Given the description of an element on the screen output the (x, y) to click on. 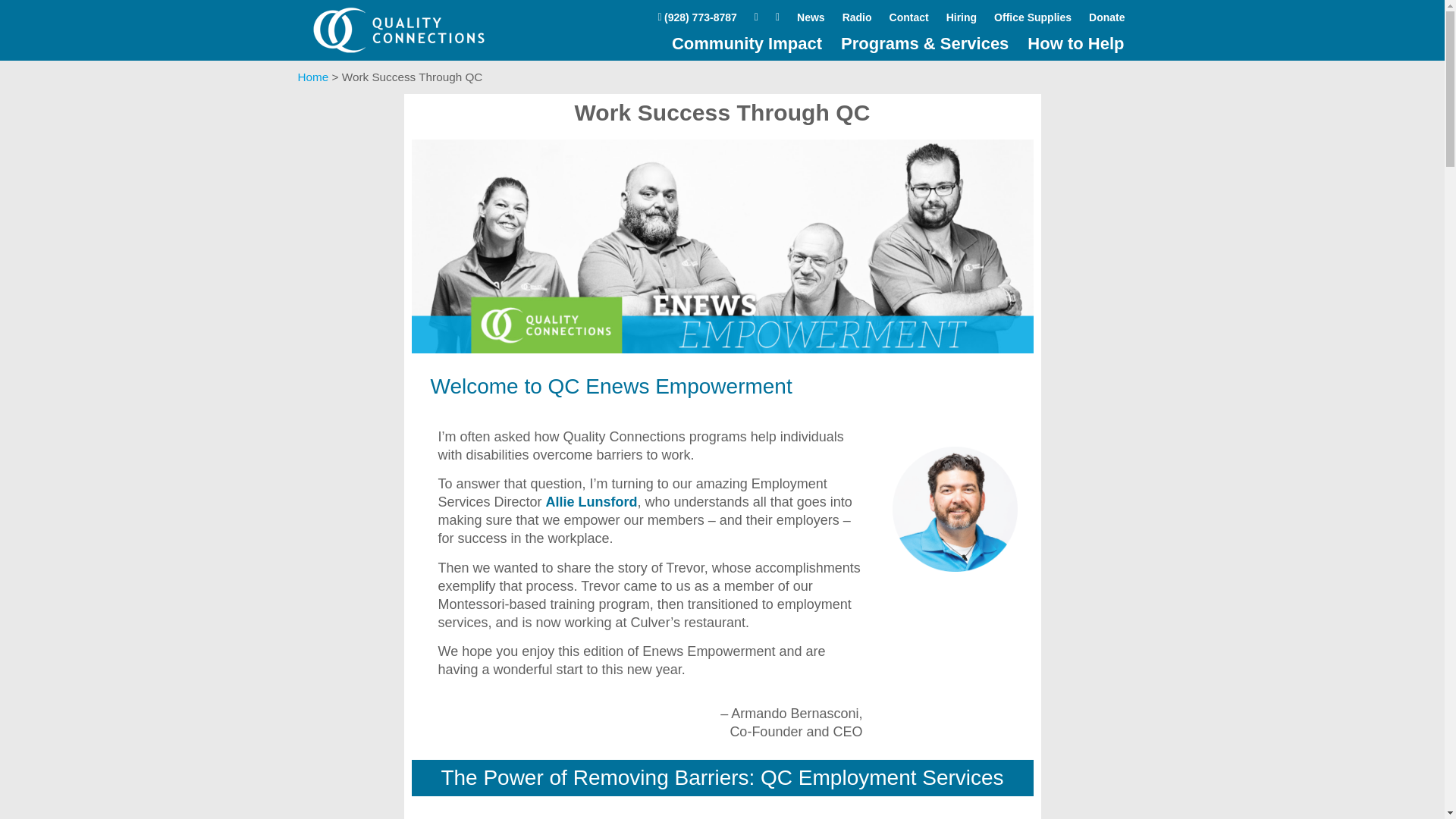
Office Supplies (1032, 16)
Radio (857, 16)
Hiring (961, 16)
How to Help (1075, 43)
Contact (909, 16)
News (810, 16)
Donate (1106, 16)
Community Impact (746, 43)
